Given the description of an element on the screen output the (x, y) to click on. 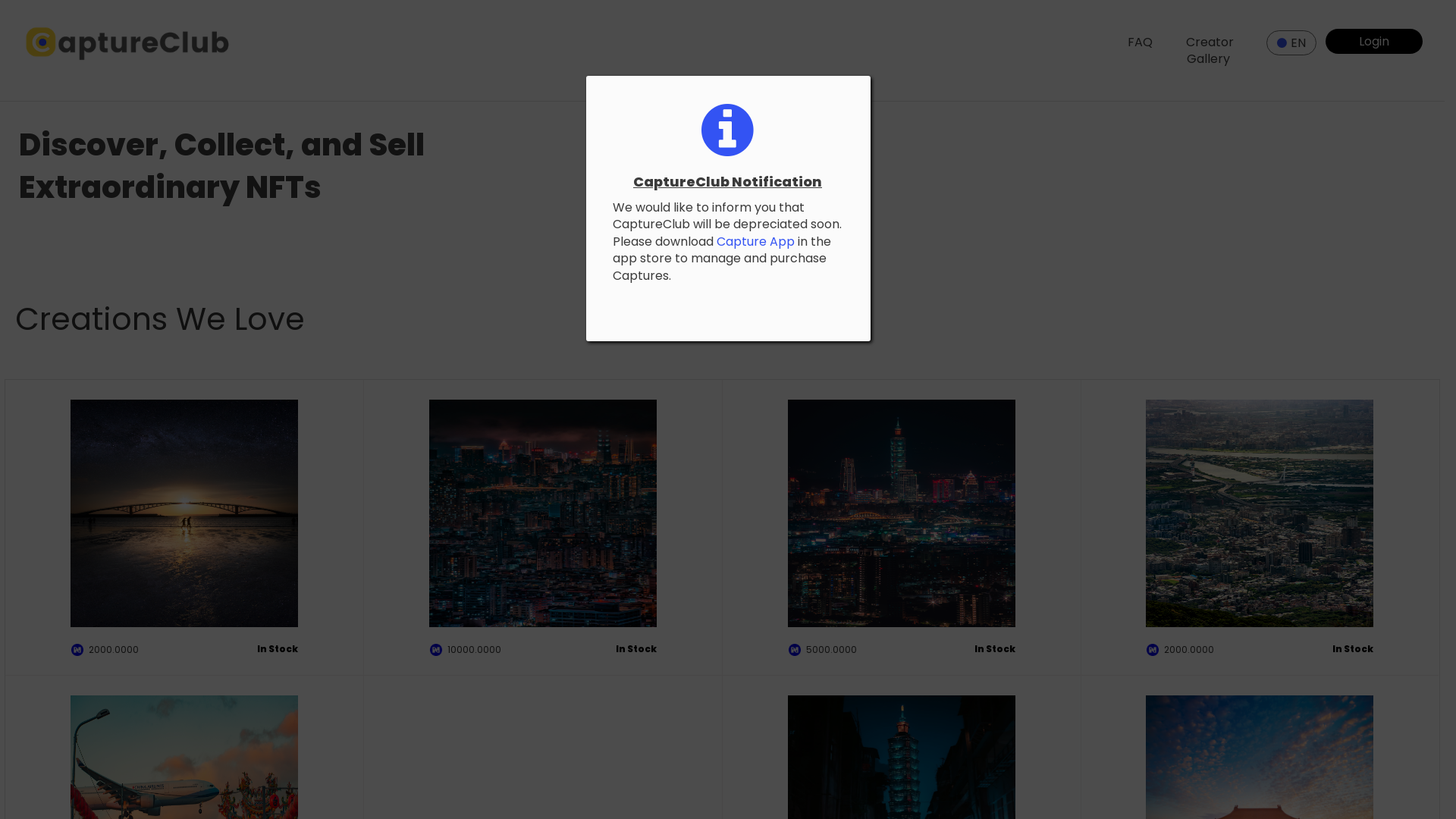
Login Element type: text (1373, 40)
Capture App Element type: text (754, 241)
